Given the description of an element on the screen output the (x, y) to click on. 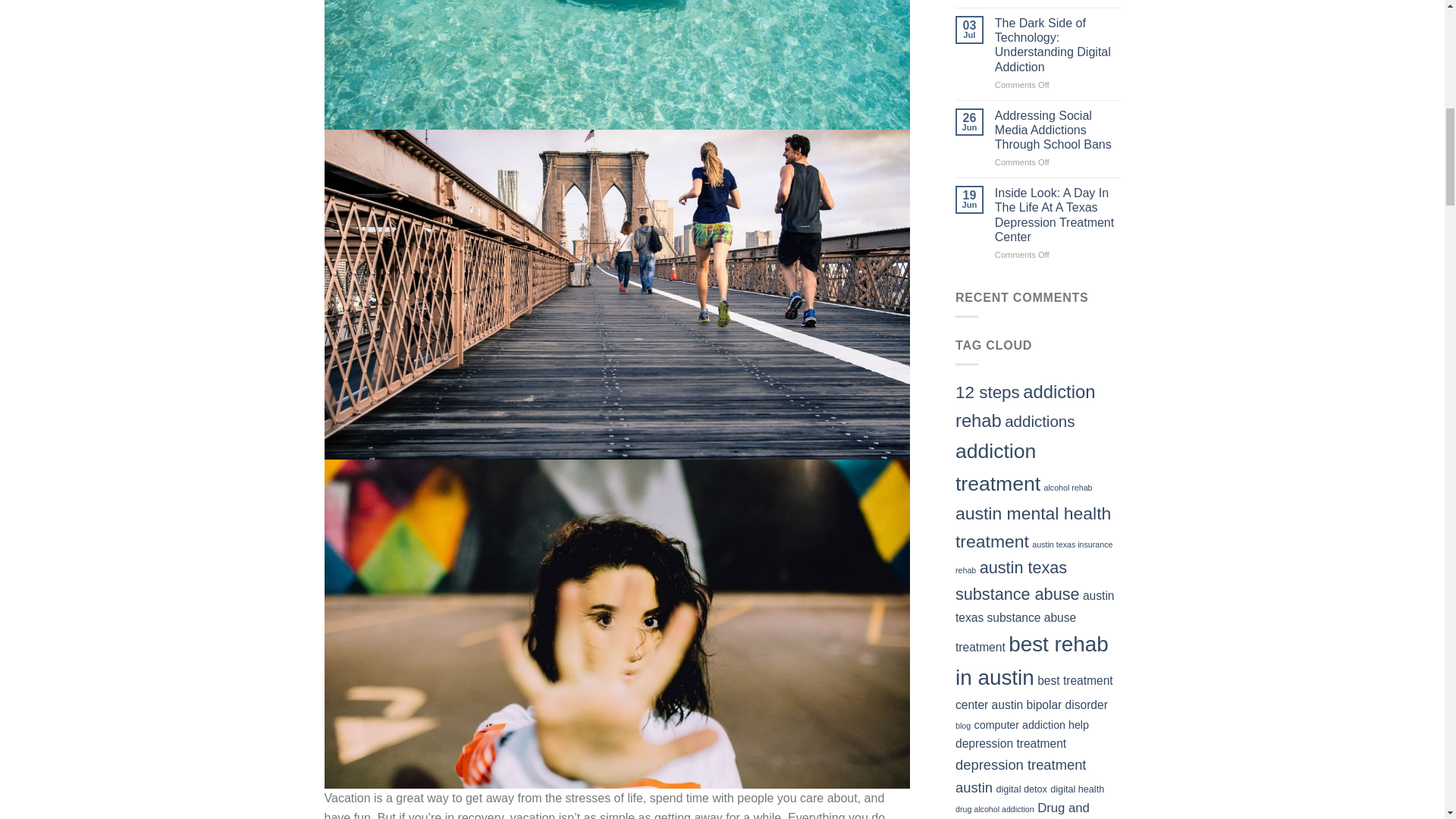
The Dark Side of Technology: Understanding Digital Addiction (1057, 44)
Addressing Social Media Addictions Through School Bans (1057, 130)
